Given the description of an element on the screen output the (x, y) to click on. 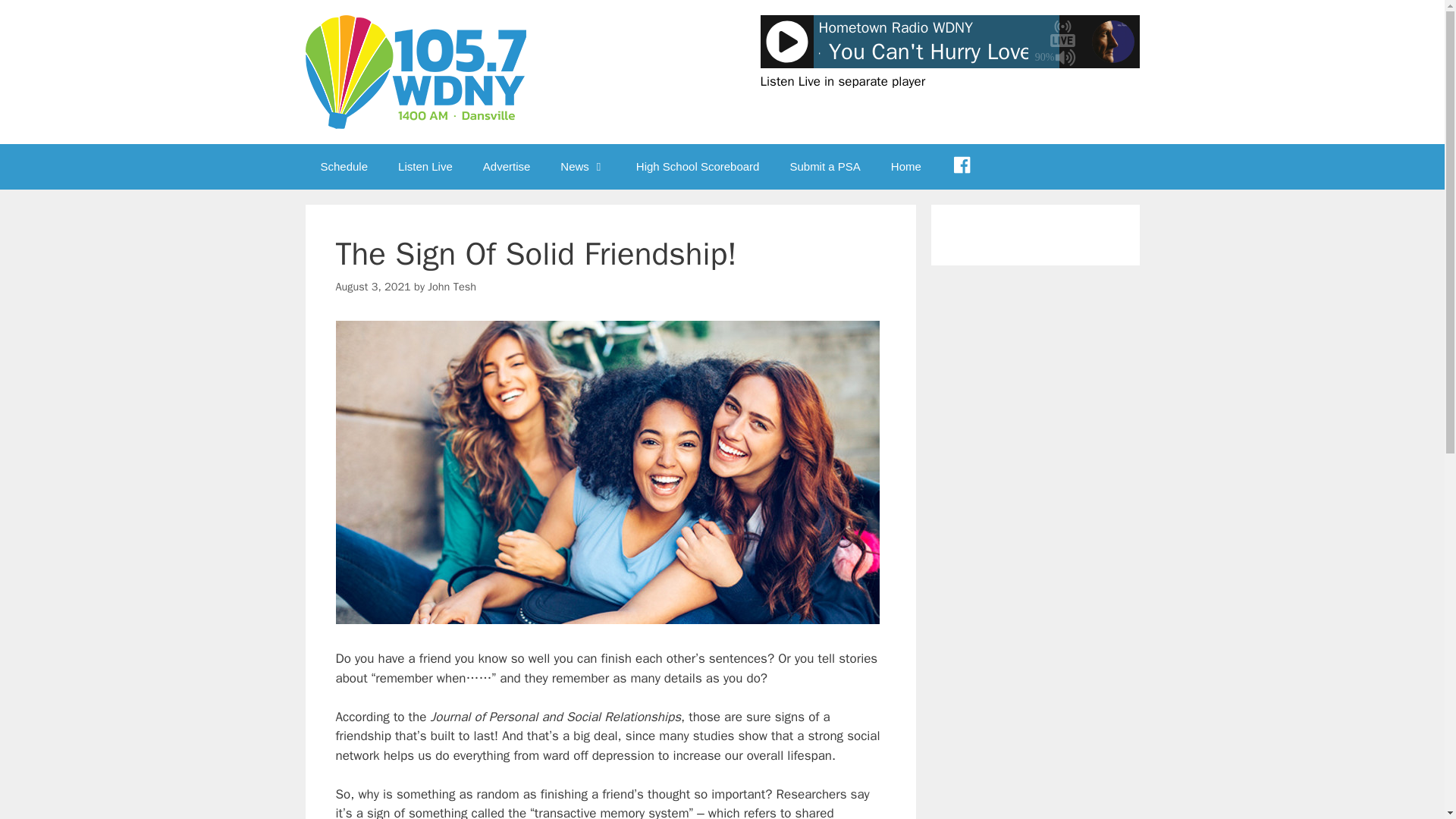
Home (906, 166)
Schedule (343, 166)
Submit a PSA (824, 166)
View all posts by John Tesh (452, 286)
Listen Live (424, 166)
Advertise (506, 166)
Listen Live in separate player (842, 81)
High School Scoreboard (697, 166)
John Tesh (452, 286)
Menu Item (961, 166)
